Given the description of an element on the screen output the (x, y) to click on. 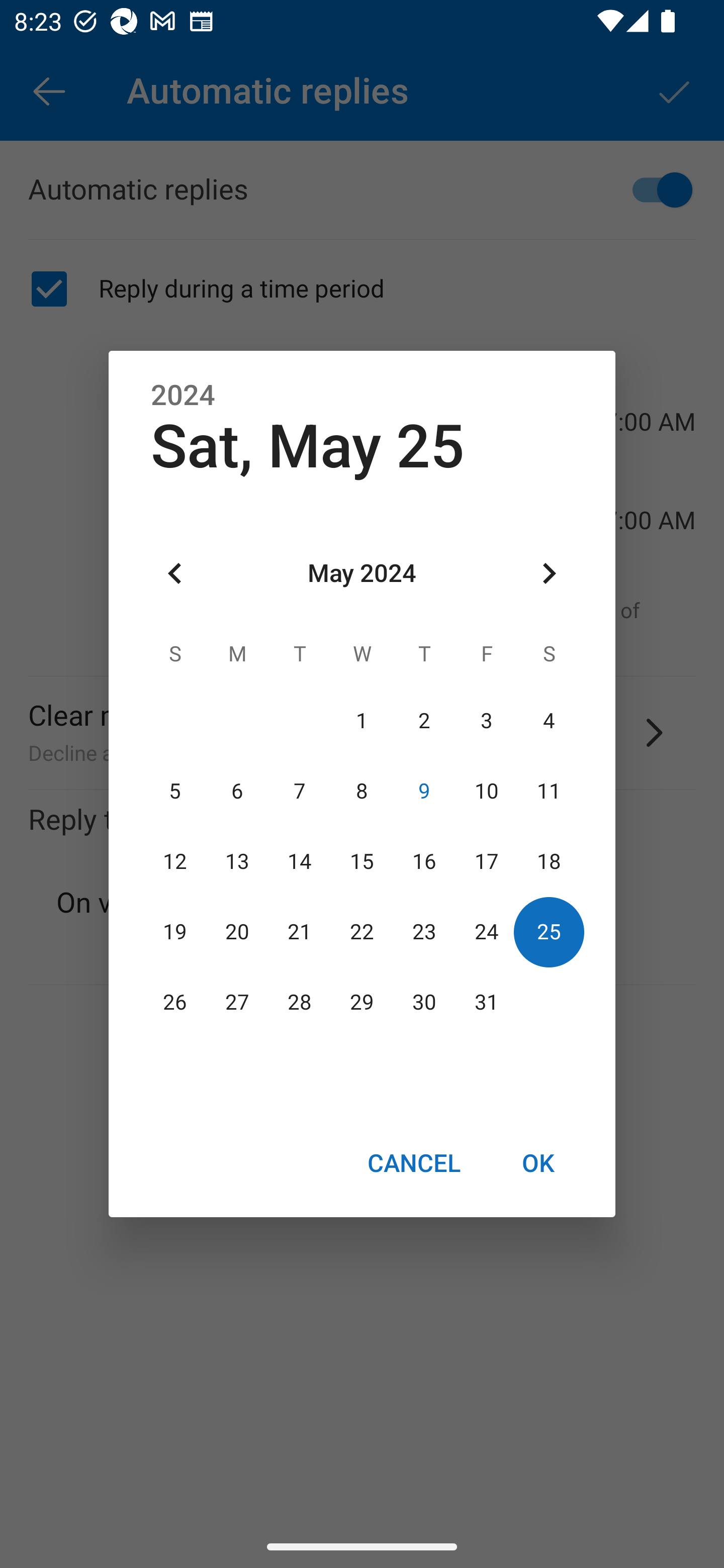
2024 (182, 395)
Sat, May 25 (307, 446)
Previous month (174, 573)
Next month (548, 573)
1 01 May 2024 (361, 720)
2 02 May 2024 (424, 720)
3 03 May 2024 (486, 720)
4 04 May 2024 (548, 720)
5 05 May 2024 (175, 790)
6 06 May 2024 (237, 790)
7 07 May 2024 (299, 790)
8 08 May 2024 (361, 790)
9 09 May 2024 (424, 790)
10 10 May 2024 (486, 790)
11 11 May 2024 (548, 790)
12 12 May 2024 (175, 861)
13 13 May 2024 (237, 861)
14 14 May 2024 (299, 861)
15 15 May 2024 (361, 861)
16 16 May 2024 (424, 861)
17 17 May 2024 (486, 861)
18 18 May 2024 (548, 861)
19 19 May 2024 (175, 931)
20 20 May 2024 (237, 931)
21 21 May 2024 (299, 931)
22 22 May 2024 (361, 931)
23 23 May 2024 (424, 931)
24 24 May 2024 (486, 931)
25 25 May 2024 (548, 931)
26 26 May 2024 (175, 1002)
27 27 May 2024 (237, 1002)
28 28 May 2024 (299, 1002)
29 29 May 2024 (361, 1002)
30 30 May 2024 (424, 1002)
31 31 May 2024 (486, 1002)
CANCEL (413, 1162)
OK (537, 1162)
